Given the description of an element on the screen output the (x, y) to click on. 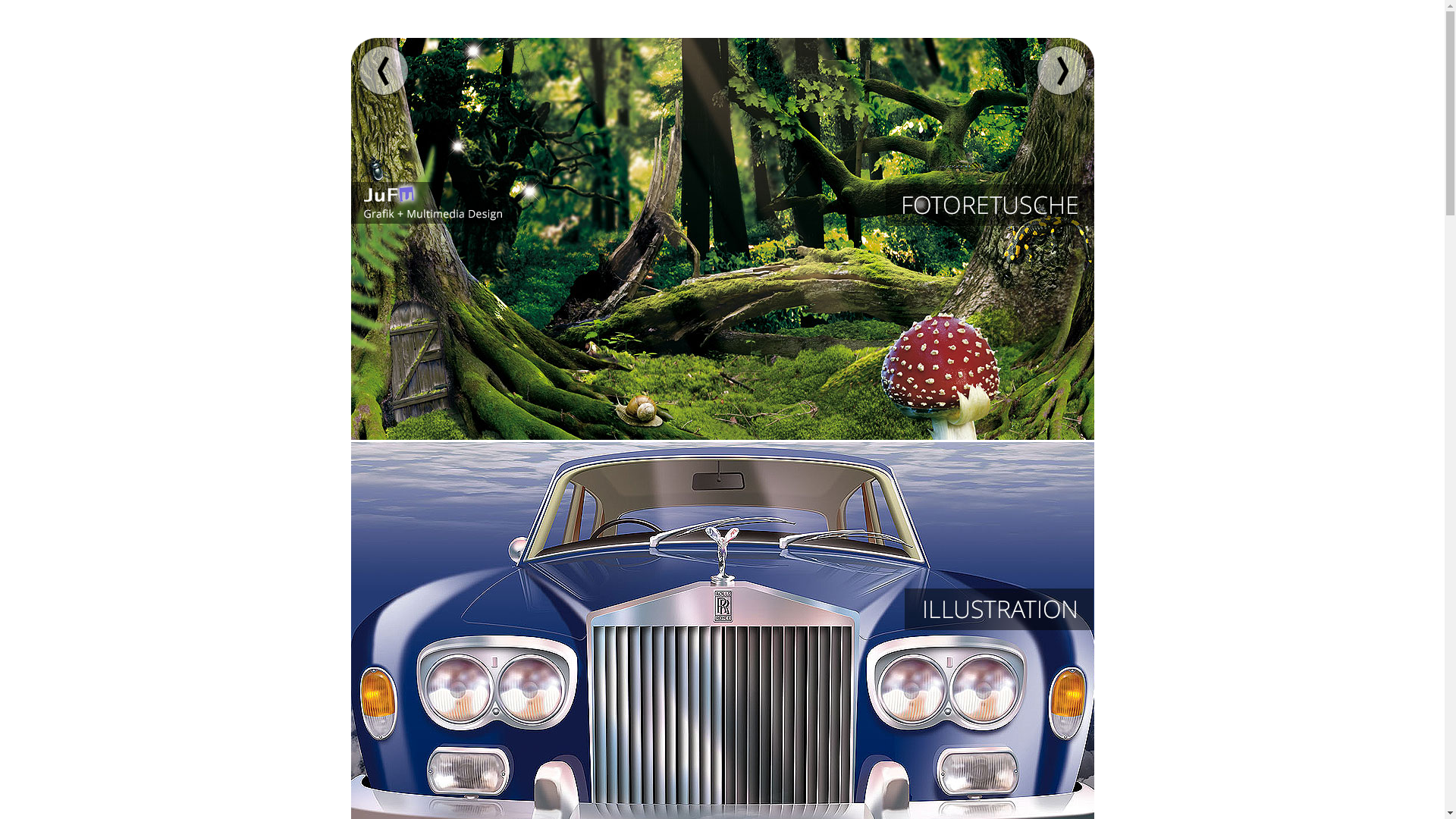
JuFu - Grafik + Multimedia Design Element type: text (429, 202)
